Given the description of an element on the screen output the (x, y) to click on. 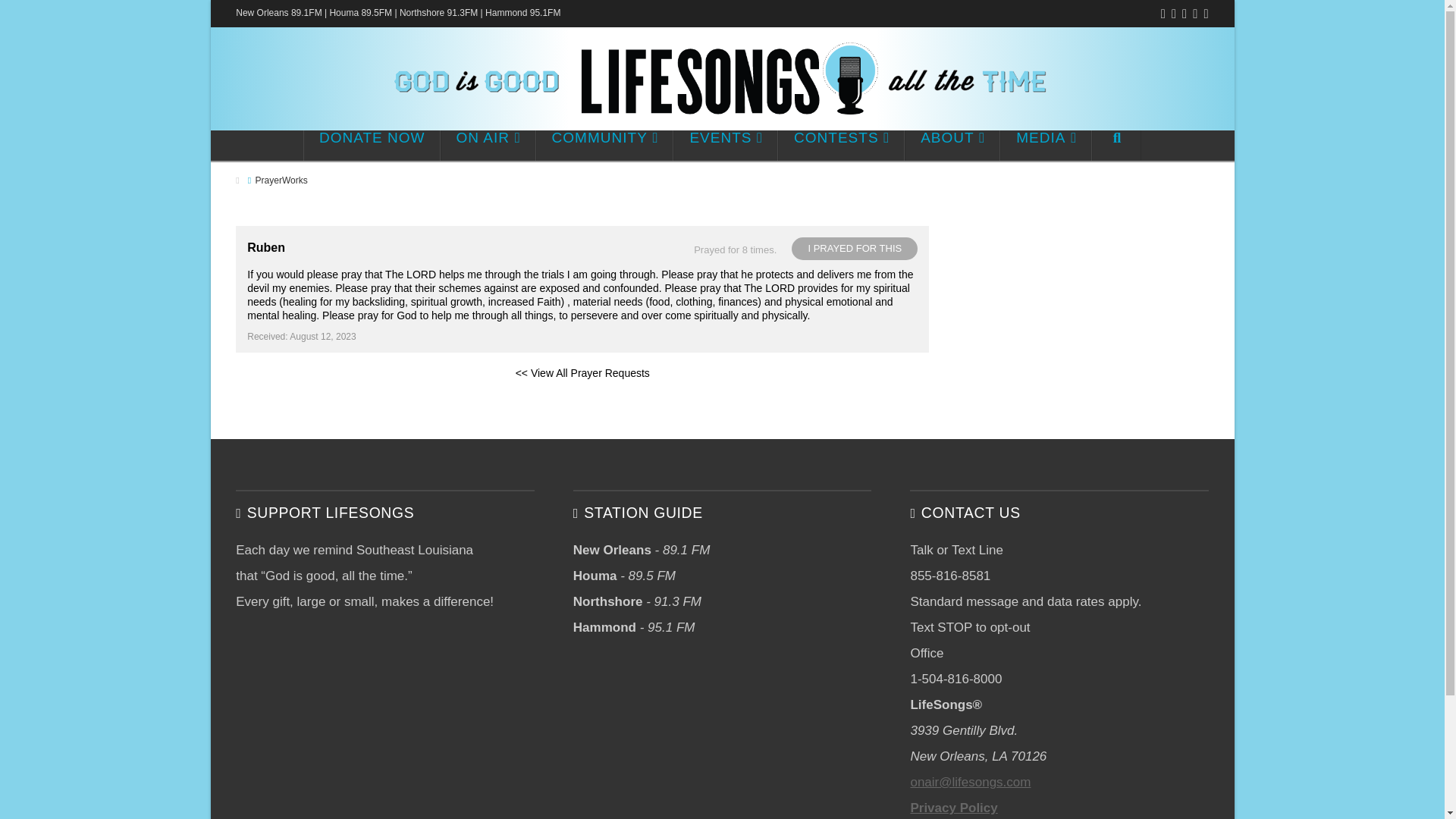
COMMUNITY (604, 145)
CONTESTS (840, 145)
ABOUT (952, 145)
DONATE NOW (371, 145)
You Are Here (281, 180)
ON AIR (488, 145)
MEDIA (1046, 145)
EVENTS (724, 145)
